Given the description of an element on the screen output the (x, y) to click on. 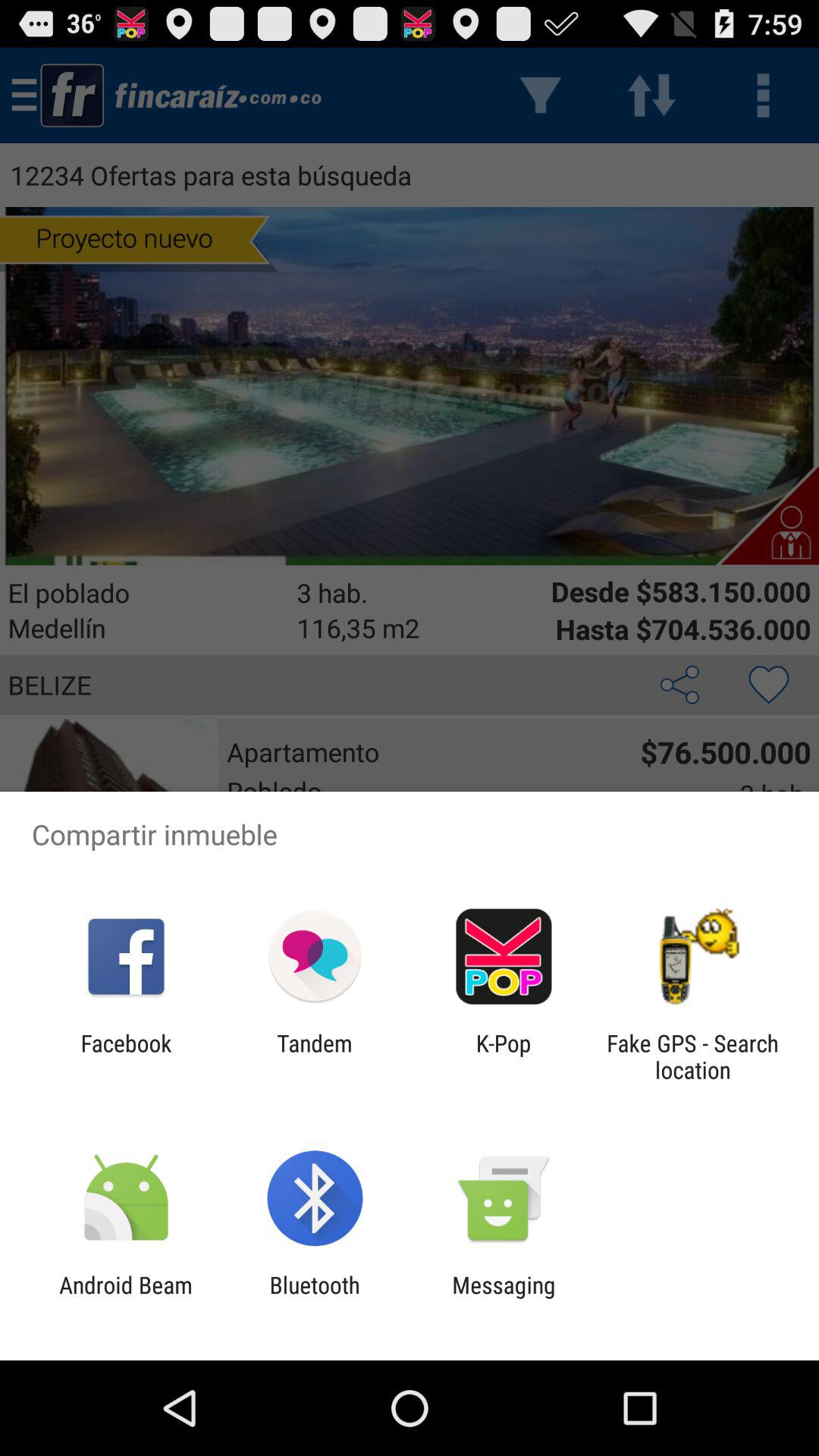
launch icon to the left of messaging (314, 1298)
